Given the description of an element on the screen output the (x, y) to click on. 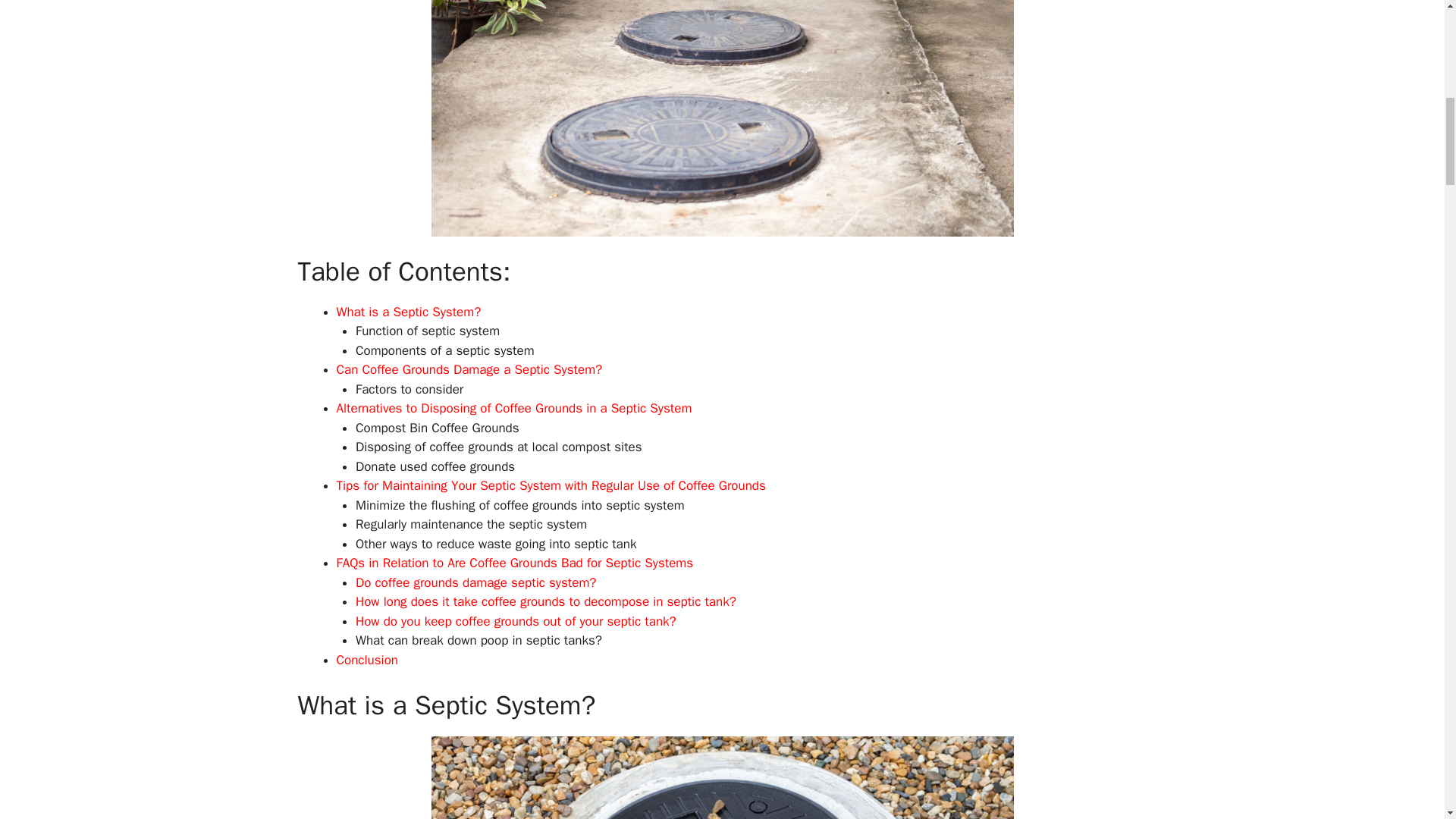
How do you keep coffee grounds out of your septic tank? (516, 620)
Can Coffee Grounds Damage a Septic System? (469, 369)
Conclusion (366, 659)
Do coffee grounds damage septic system? (475, 582)
What is a Septic System? (408, 311)
